Given the description of an element on the screen output the (x, y) to click on. 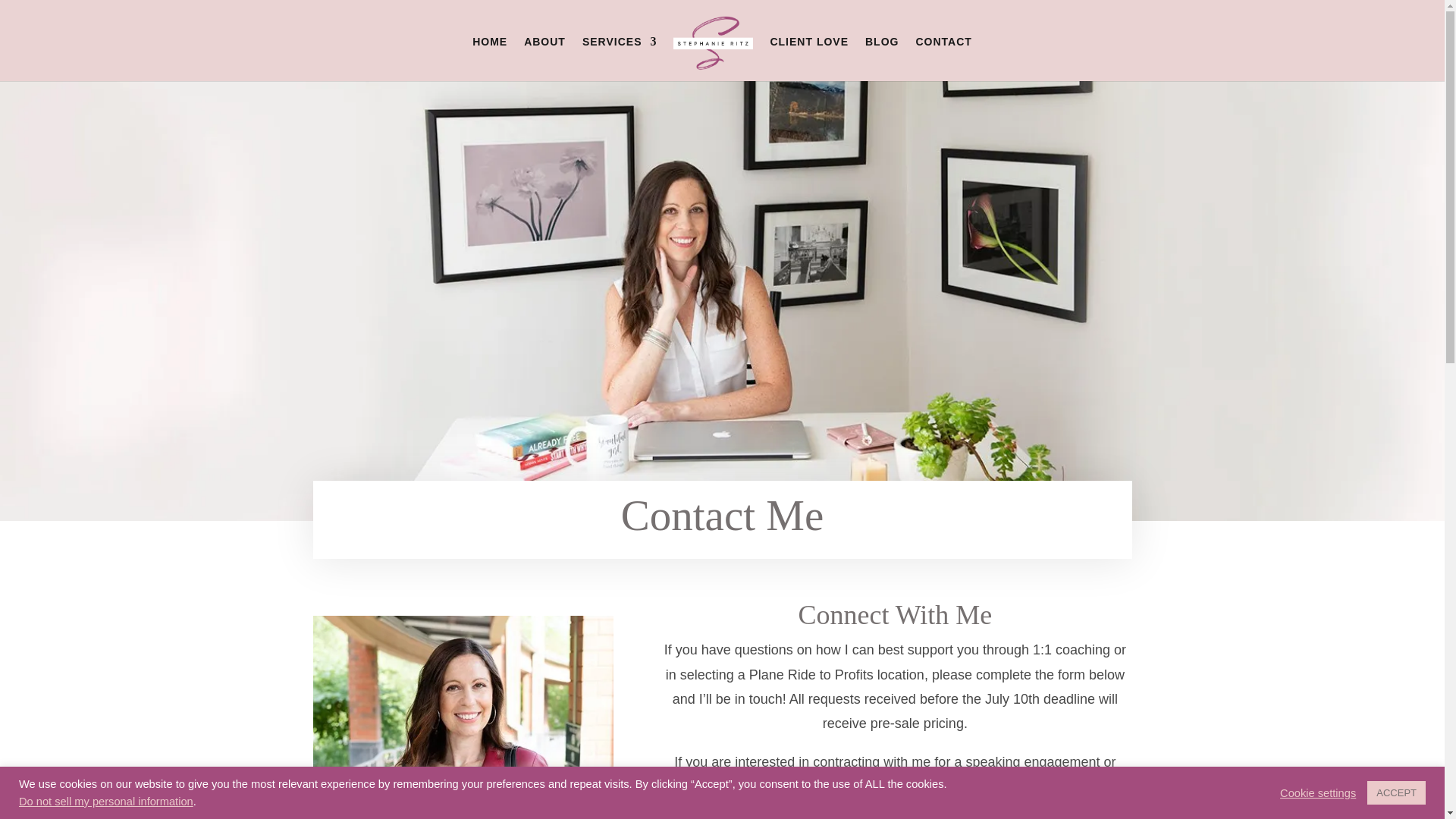
CLIENT LOVE (809, 58)
claim-your-career-contact-headshot (462, 717)
ACCEPT (1396, 792)
CONTACT (943, 58)
Do not sell my personal information (105, 801)
ABOUT (545, 58)
Cookie settings (1317, 792)
SERVICES (620, 58)
